Given the description of an element on the screen output the (x, y) to click on. 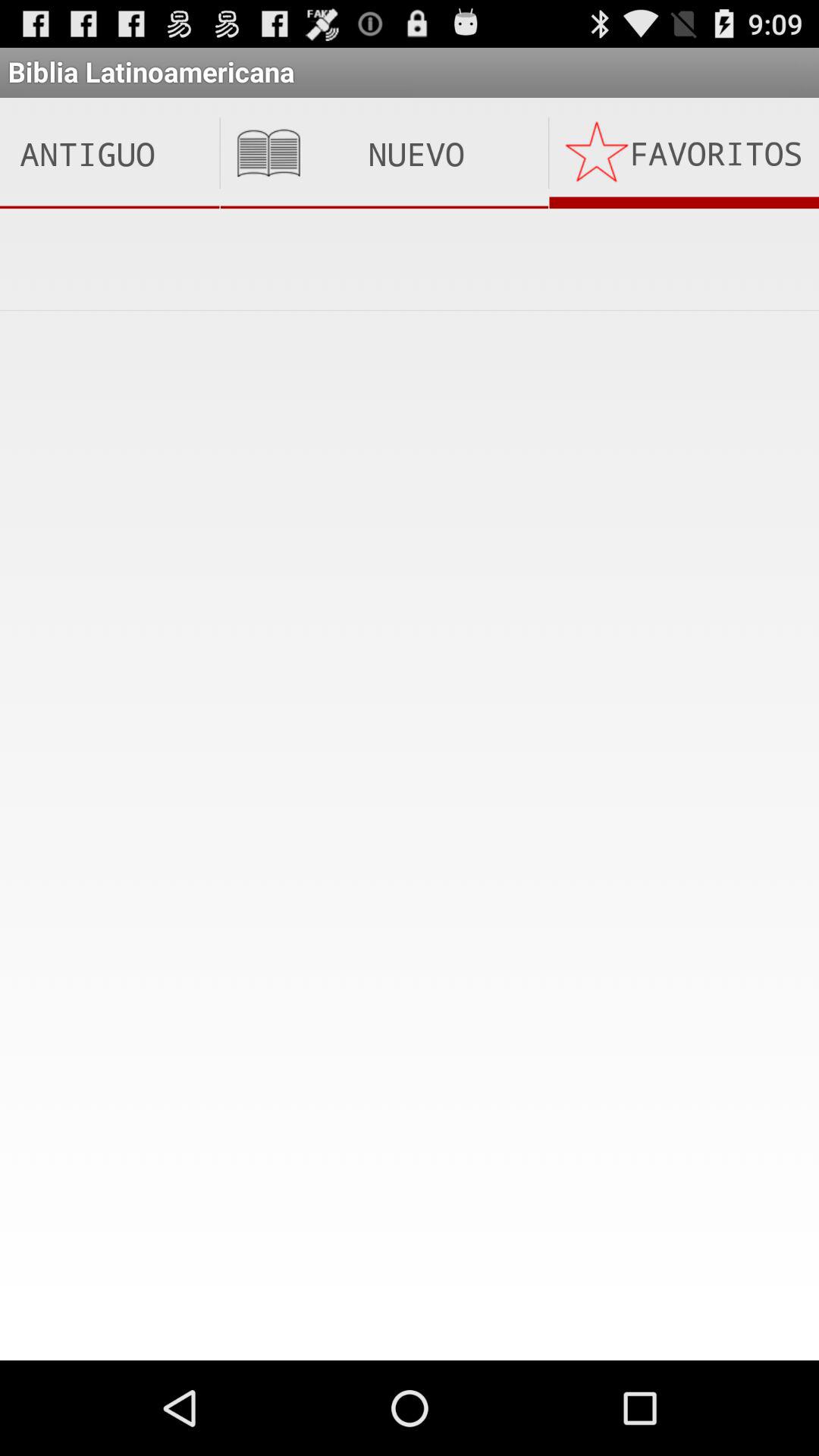
turn on the icon next to nuevo testamento (684, 152)
